Given the description of an element on the screen output the (x, y) to click on. 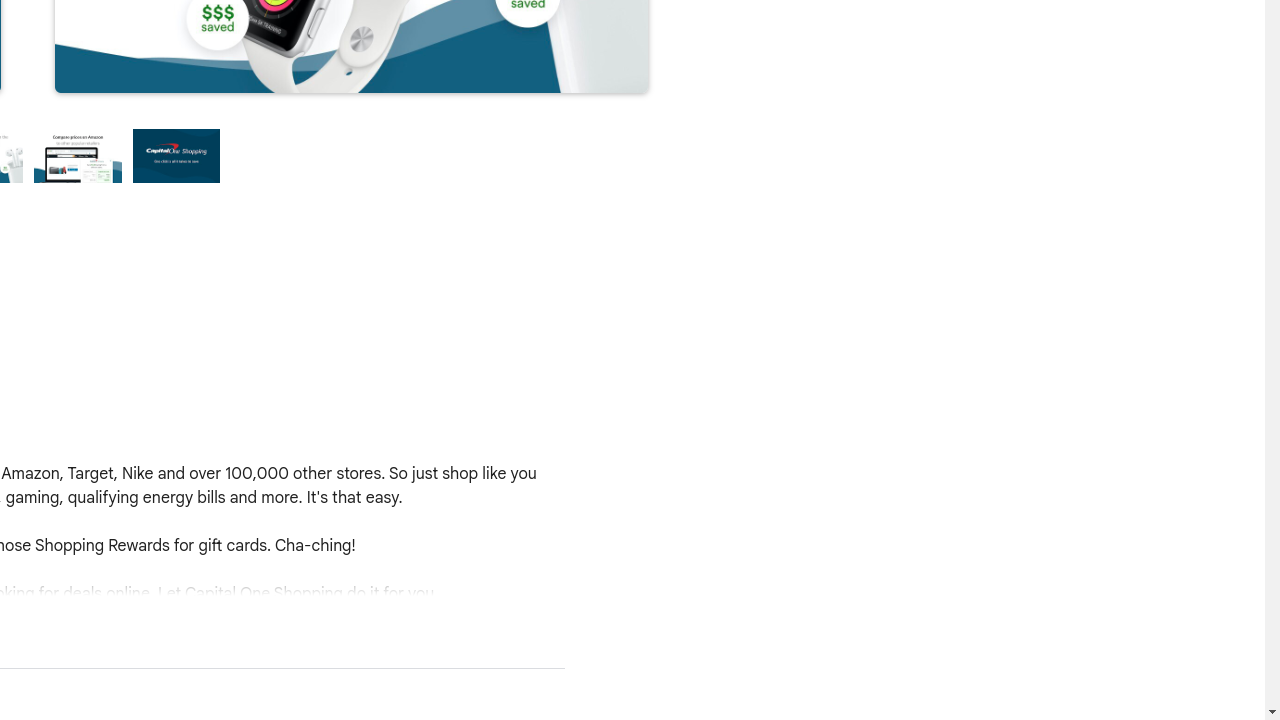
Preview slide 3 Element type: push-button (78, 156)
Preview slide 4 Element type: push-button (177, 156)
